Given the description of an element on the screen output the (x, y) to click on. 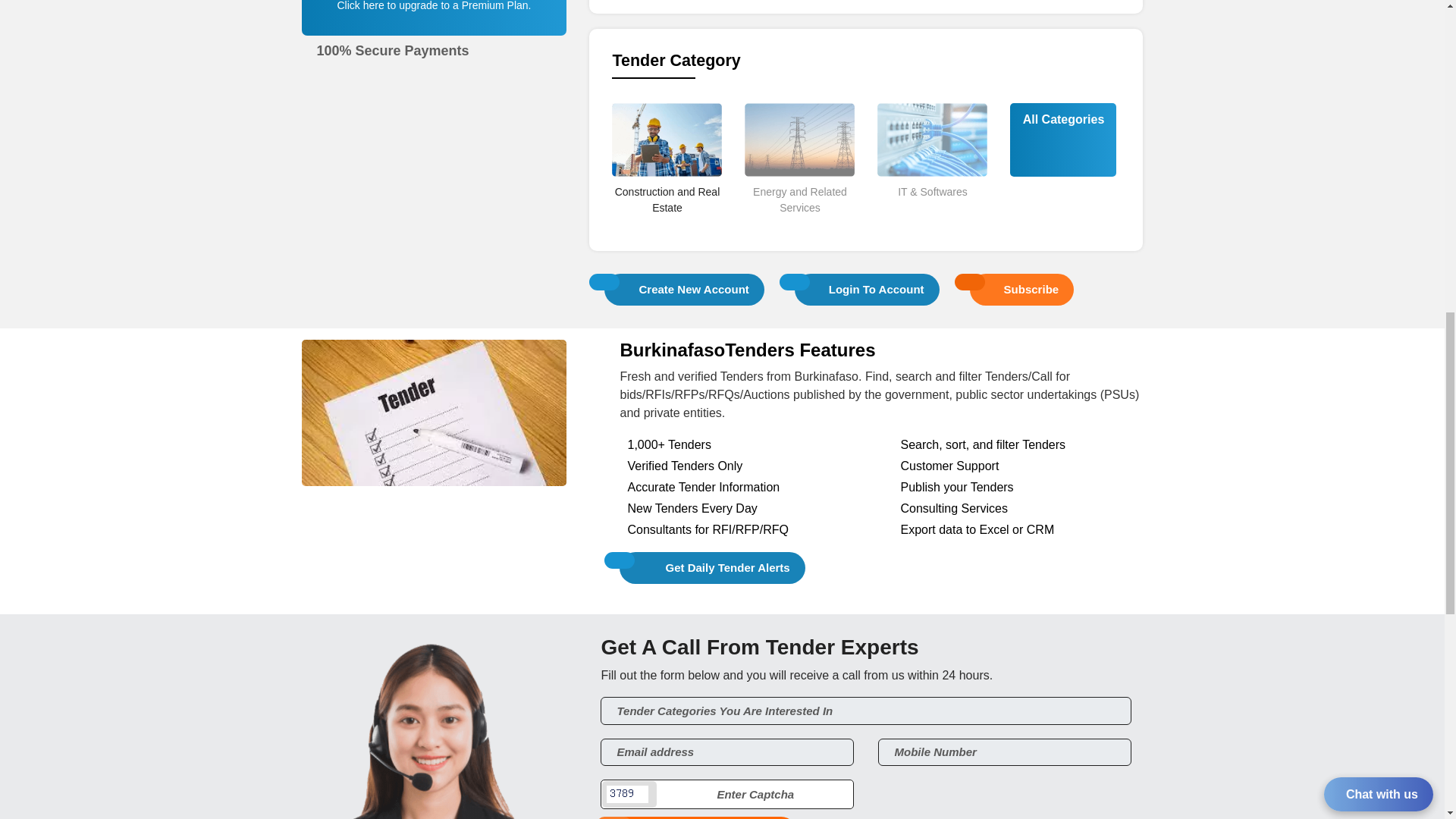
Get Daily Tender Alerts (712, 568)
Click here to upgrade to a Premium Plan. (433, 5)
Subscribe (1022, 288)
Subscription Plans (434, 26)
Login To Account (866, 288)
Energy and Related Services (799, 225)
Request A Callback (698, 817)
Construction and Real Estate (666, 225)
Create New Account (684, 288)
All Categories (1062, 119)
